Given the description of an element on the screen output the (x, y) to click on. 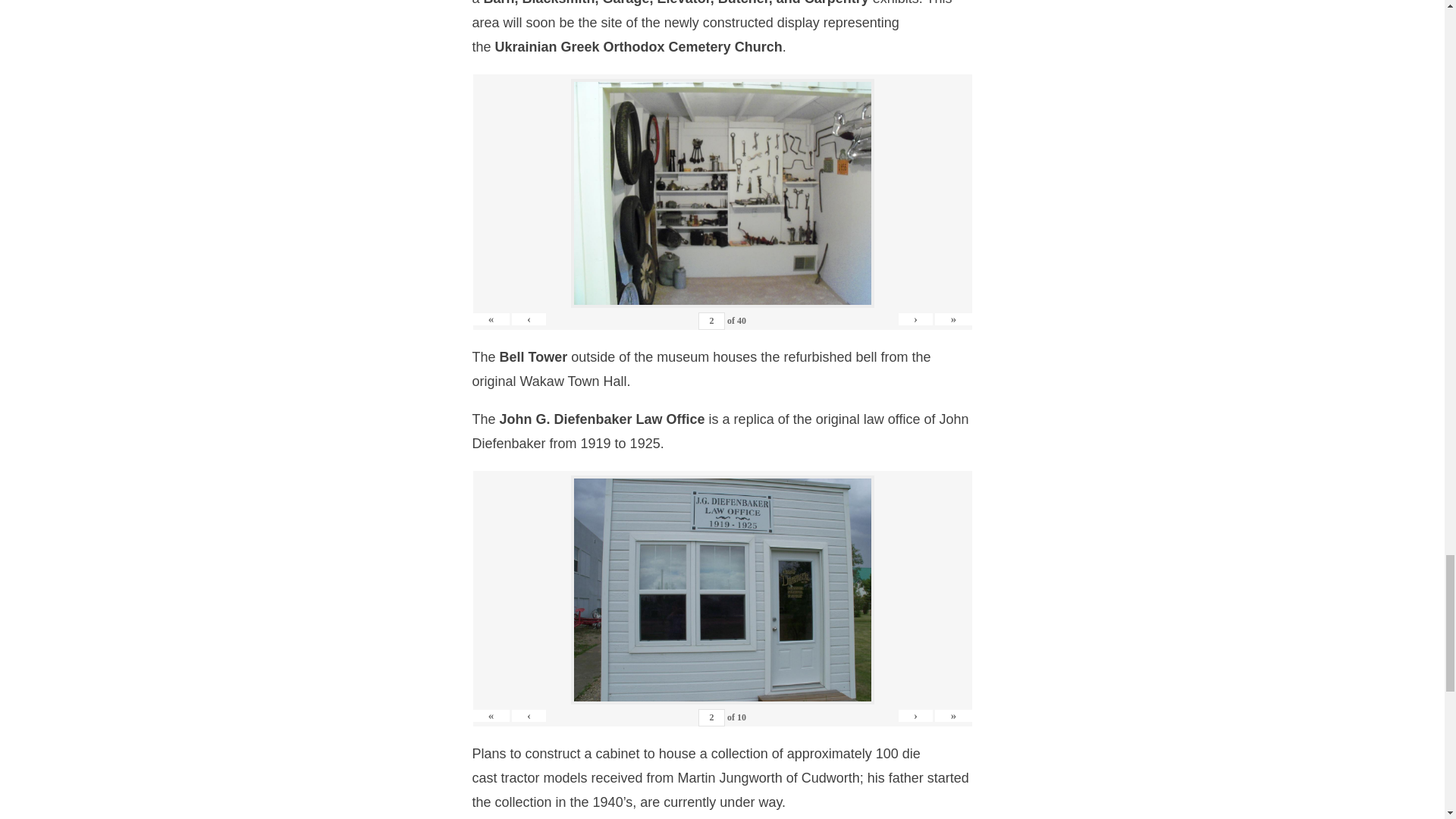
2 (711, 717)
2 (711, 321)
